Given the description of an element on the screen output the (x, y) to click on. 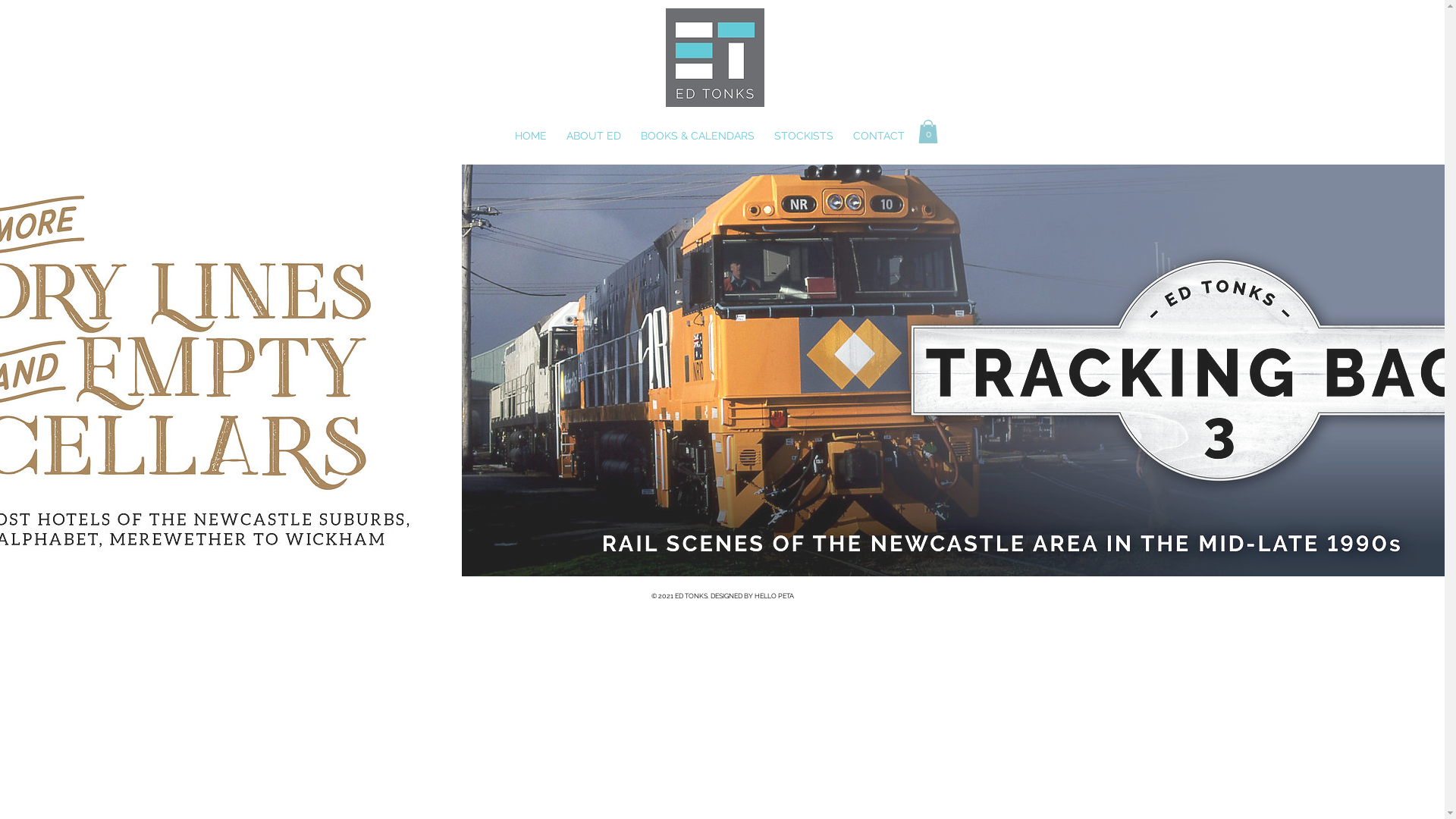
HELLO PETA Element type: text (773, 595)
HOME Element type: text (532, 135)
ABOUT ED Element type: text (595, 135)
STOCKISTS Element type: text (804, 135)
0 Element type: text (927, 131)
BOOKS & CALENDARS Element type: text (698, 135)
CONTACT Element type: text (879, 135)
